Given the description of an element on the screen output the (x, y) to click on. 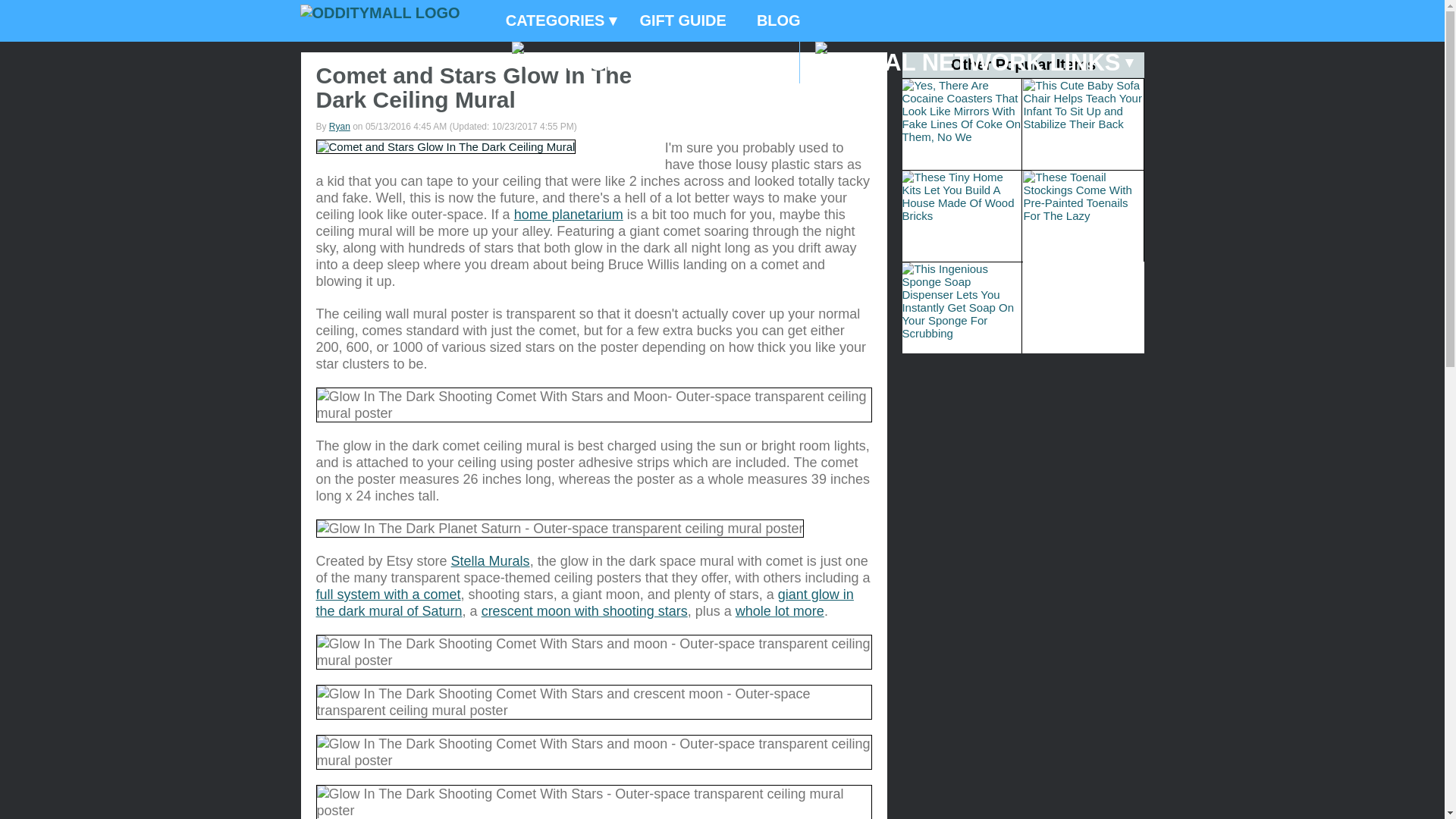
giant glow in the dark mural of Saturn (584, 603)
crescent moon with shooting stars (584, 611)
Stella Murals (490, 560)
GIFT GUIDE (682, 20)
home planetarium (568, 214)
Ryan (339, 126)
Unique Gifts - Unusual Gift Ideas (379, 12)
whole lot more (779, 611)
Comet and Stars Glow In The Dark Ceiling Mural (445, 146)
CATEGORIES (557, 20)
